Given the description of an element on the screen output the (x, y) to click on. 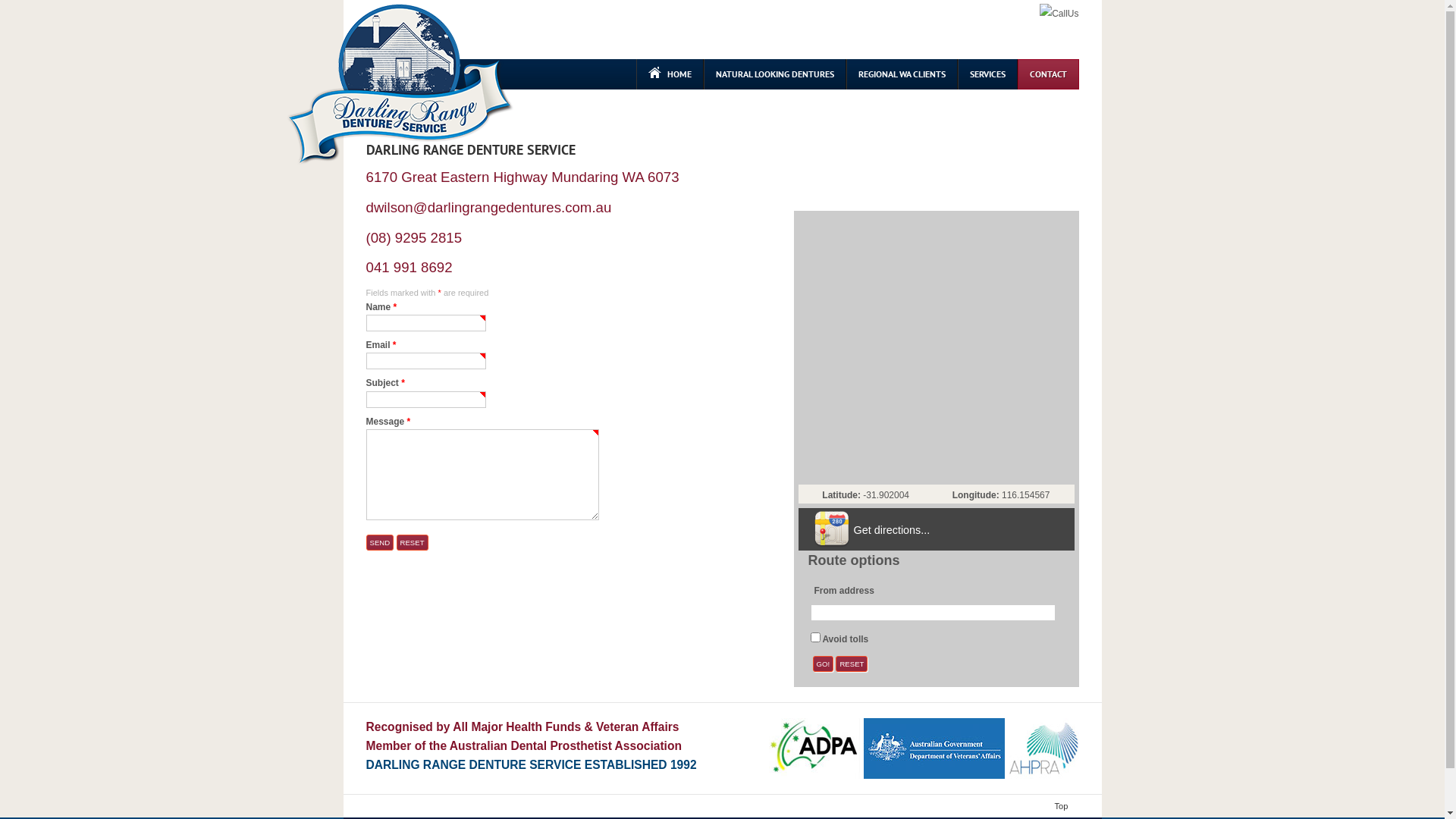
GO! Element type: text (823, 663)
Subject Element type: hover (425, 399)
SEND Element type: text (379, 542)
NATURAL LOOKING DENTURES Element type: text (774, 74)
Message Element type: hover (481, 474)
Top Element type: text (1065, 805)
Get directions... Element type: text (891, 530)
HOME Element type: text (668, 74)
RESET Element type: text (411, 542)
Name Element type: hover (425, 322)
Email Element type: hover (425, 360)
SERVICES Element type: text (986, 74)
REGIONAL WA CLIENTS Element type: text (901, 74)
Darling Range Denture Service Element type: hover (400, 84)
dwilson@darlingrangedentures.com.au Element type: text (488, 207)
CONTACT Element type: text (1048, 74)
RESET Element type: text (851, 663)
